Given the description of an element on the screen output the (x, y) to click on. 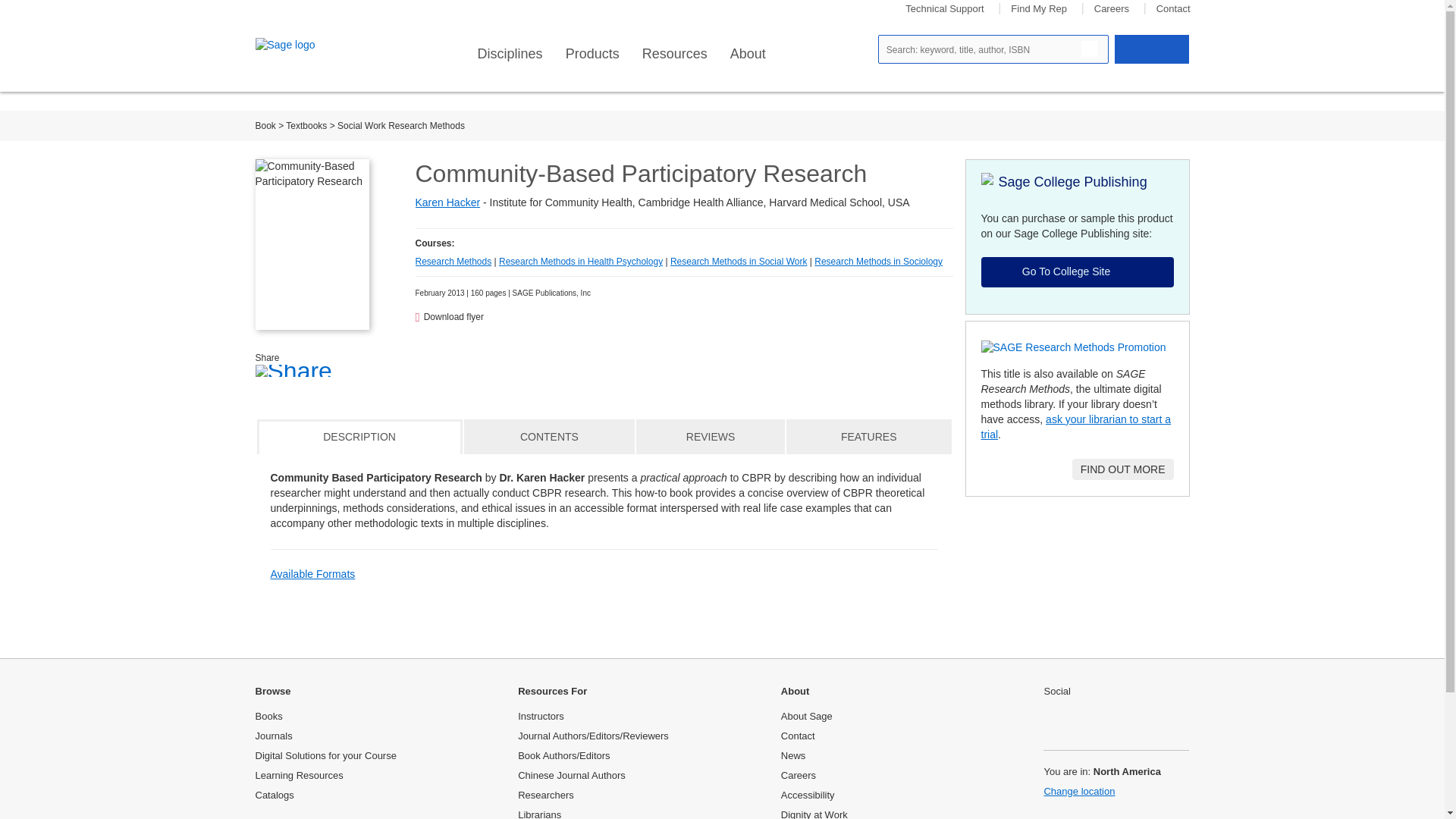
Disciplines (509, 53)
Search (1089, 48)
Sage logo: link back to homepage (309, 45)
Careers (1111, 8)
Technical Support (944, 8)
Catalogs (274, 794)
Find My Rep (1038, 8)
Contact (1173, 8)
